Given the description of an element on the screen output the (x, y) to click on. 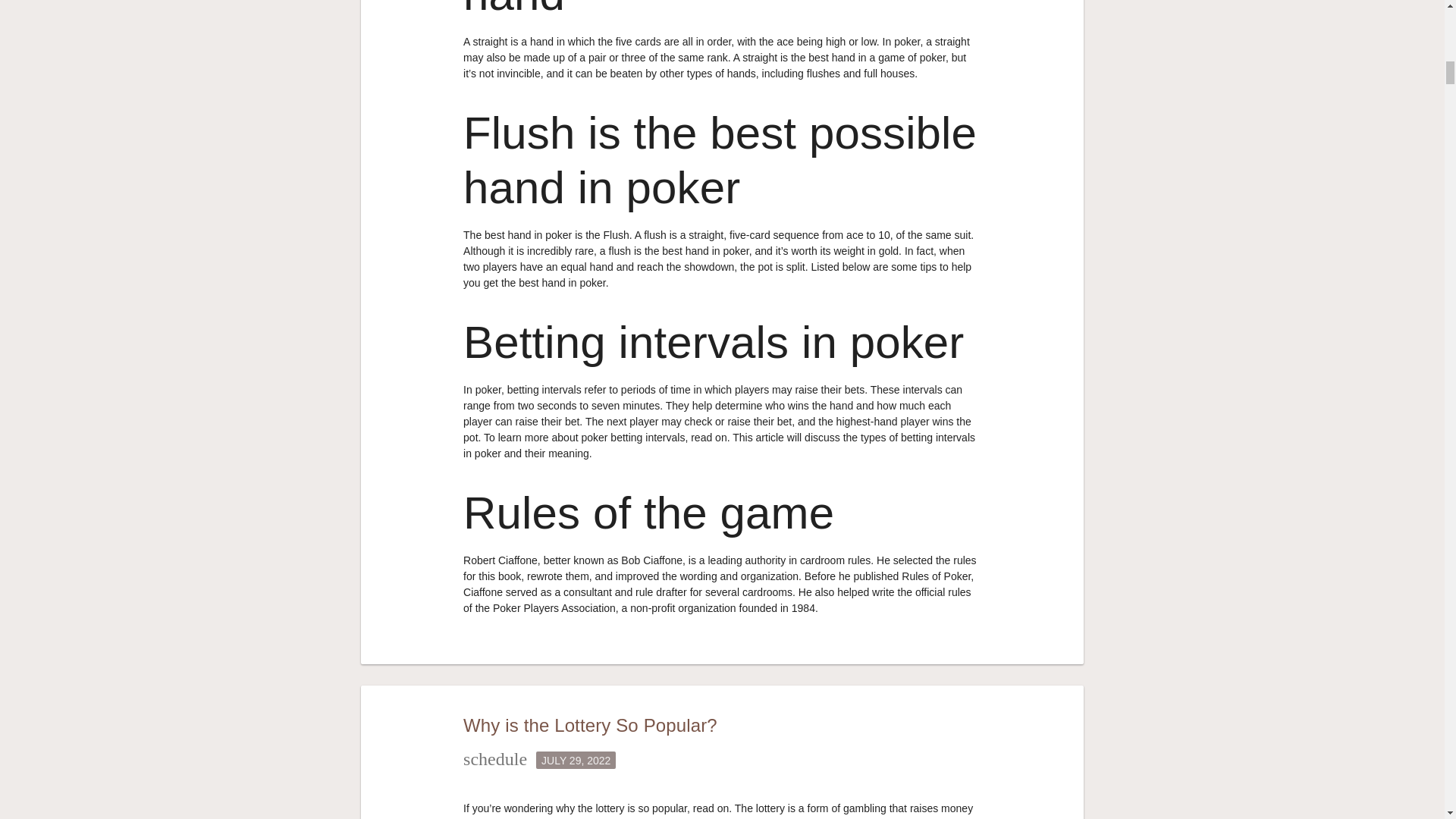
Why is the Lottery So Popular? (590, 724)
JULY 29, 2022 (575, 759)
